Given the description of an element on the screen output the (x, y) to click on. 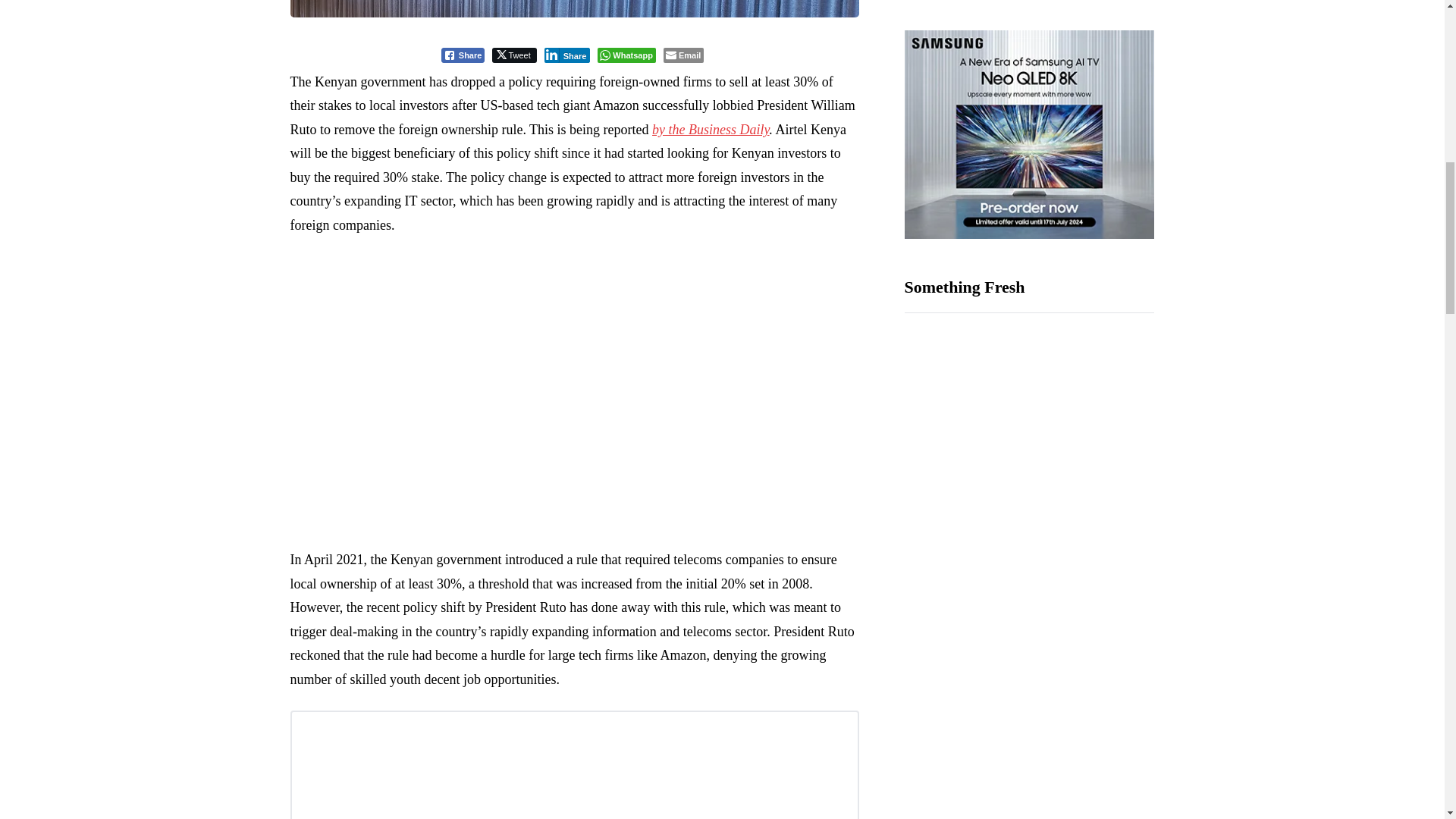
by the Business Daily (710, 129)
Tweet (513, 55)
Email (683, 55)
Share (462, 55)
Whatsapp (626, 55)
Share (567, 55)
